Given the description of an element on the screen output the (x, y) to click on. 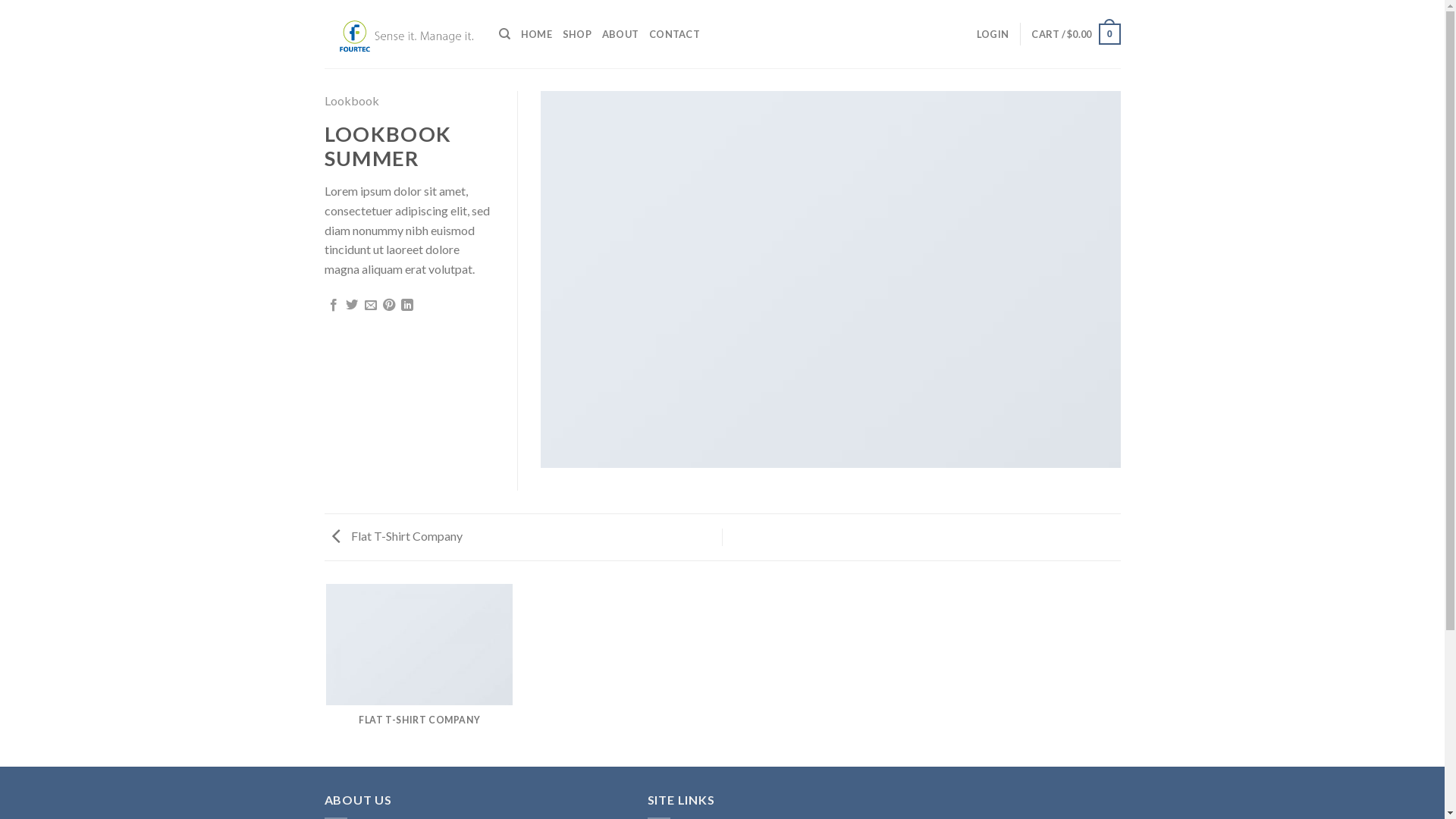
Fourtec Australia Element type: hover (400, 33)
SHOP Element type: text (576, 33)
Flat T-Shirt Company Element type: text (393, 535)
Pin on Pinterest Element type: hover (388, 305)
Share on LinkedIn Element type: hover (407, 305)
ABOUT Element type: text (620, 33)
CART / $0.00
0 Element type: text (1075, 33)
LOGIN Element type: text (992, 33)
Lookbook Element type: text (351, 100)
Share on Facebook Element type: hover (333, 305)
Email to a Friend Element type: hover (370, 305)
HOME Element type: text (536, 33)
Share on Twitter Element type: hover (351, 305)
CONTACT Element type: text (674, 33)
FLAT T-SHIRT COMPANY Element type: text (419, 667)
